Given the description of an element on the screen output the (x, y) to click on. 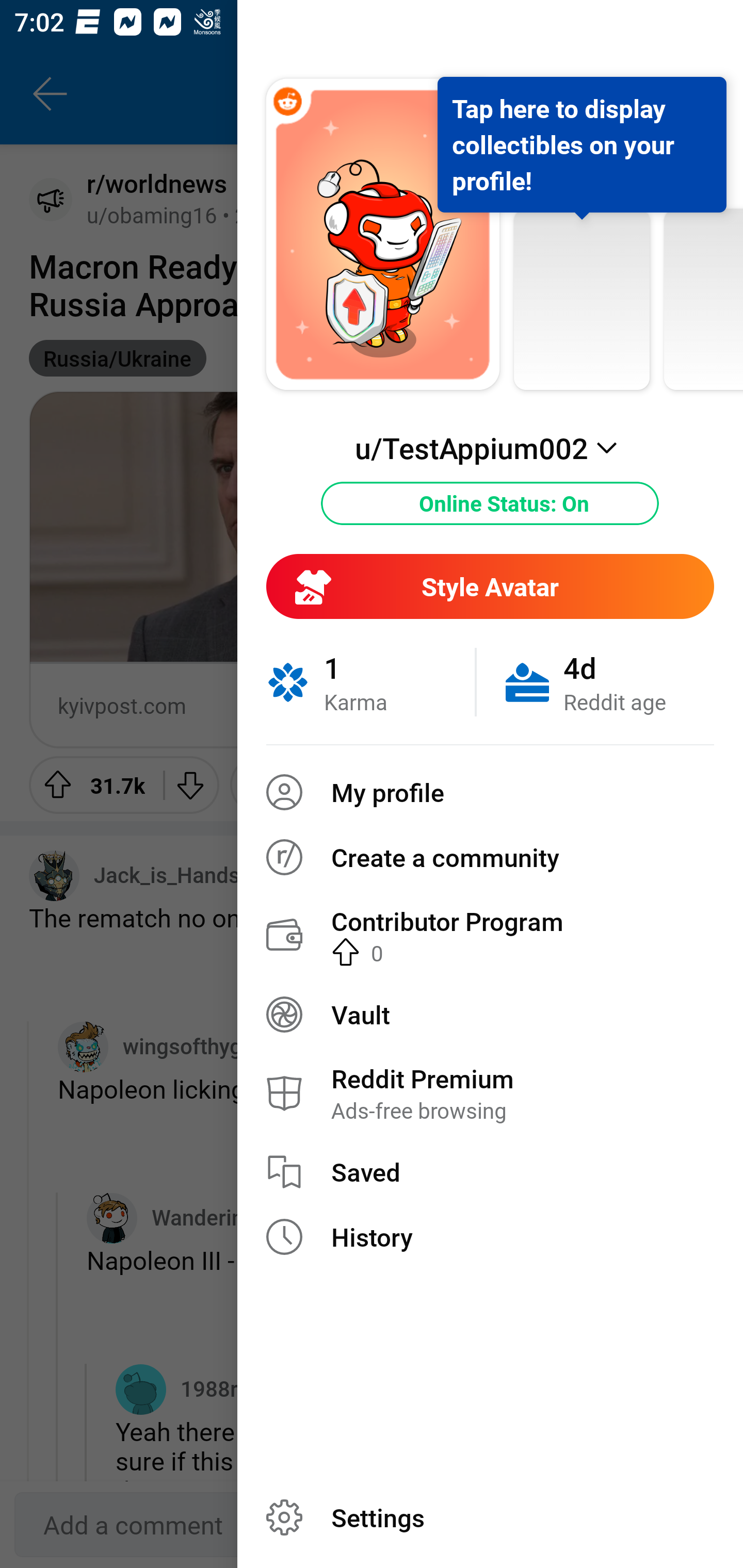
u/TestAppium002 (489, 447)
Online Status: On (489, 503)
Style Avatar (489, 586)
1 Karma 1 Karma (369, 681)
Open (637, 704)
My profile (490, 792)
Create a community (490, 856)
Contributor Program Contributor Program 0 (490, 935)
Vault (490, 1014)
Saved (490, 1171)
History (490, 1237)
Settings (490, 1517)
